Given the description of an element on the screen output the (x, y) to click on. 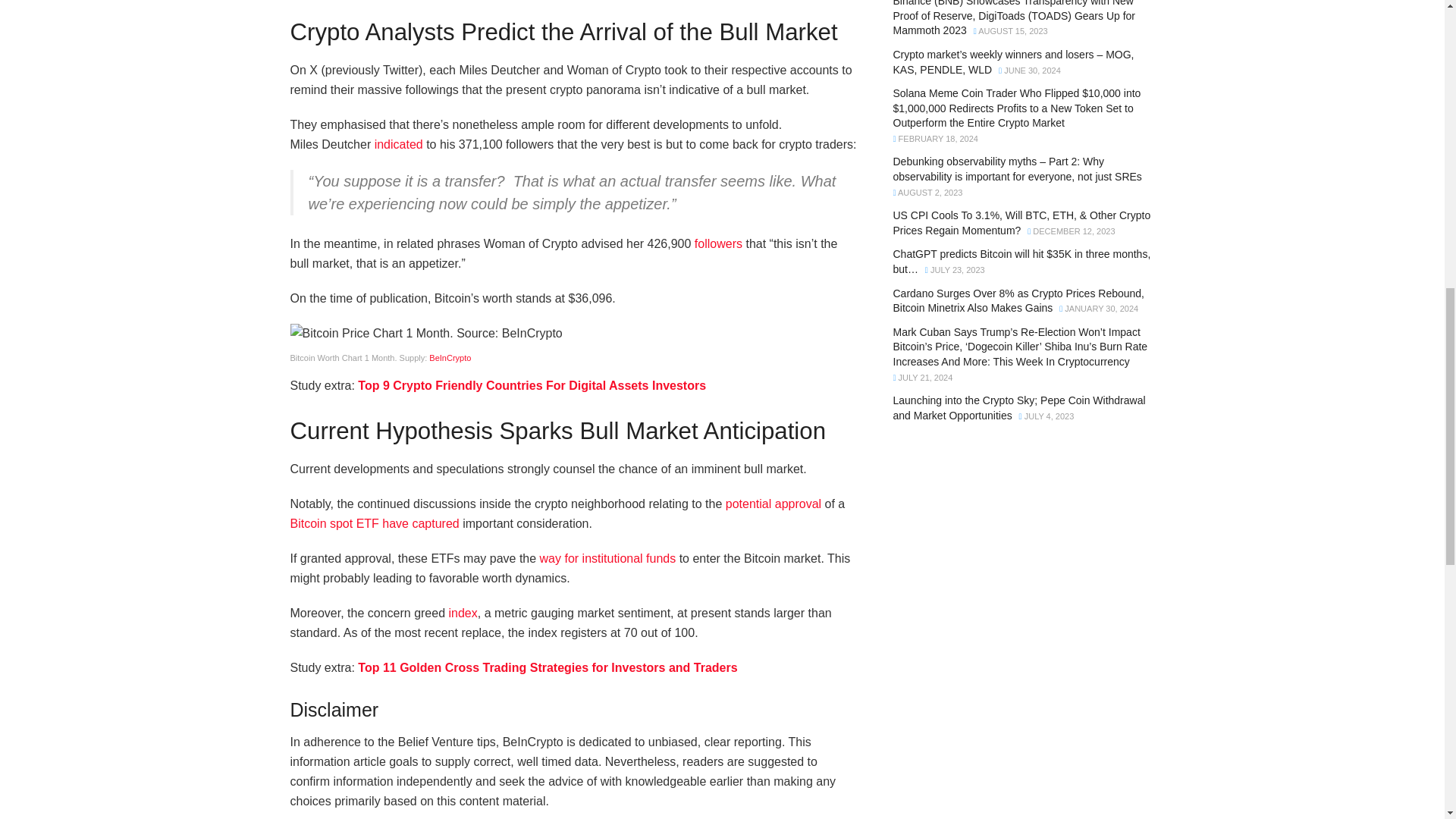
way for institutional funds (608, 558)
Bitcoin spot ETF have captured (373, 522)
Top 9 Crypto Friendly Countries For Digital Assets Investors (532, 385)
BeInCrypto (449, 357)
indicated (398, 144)
potential approval (773, 503)
index (462, 612)
followers (718, 243)
